Given the description of an element on the screen output the (x, y) to click on. 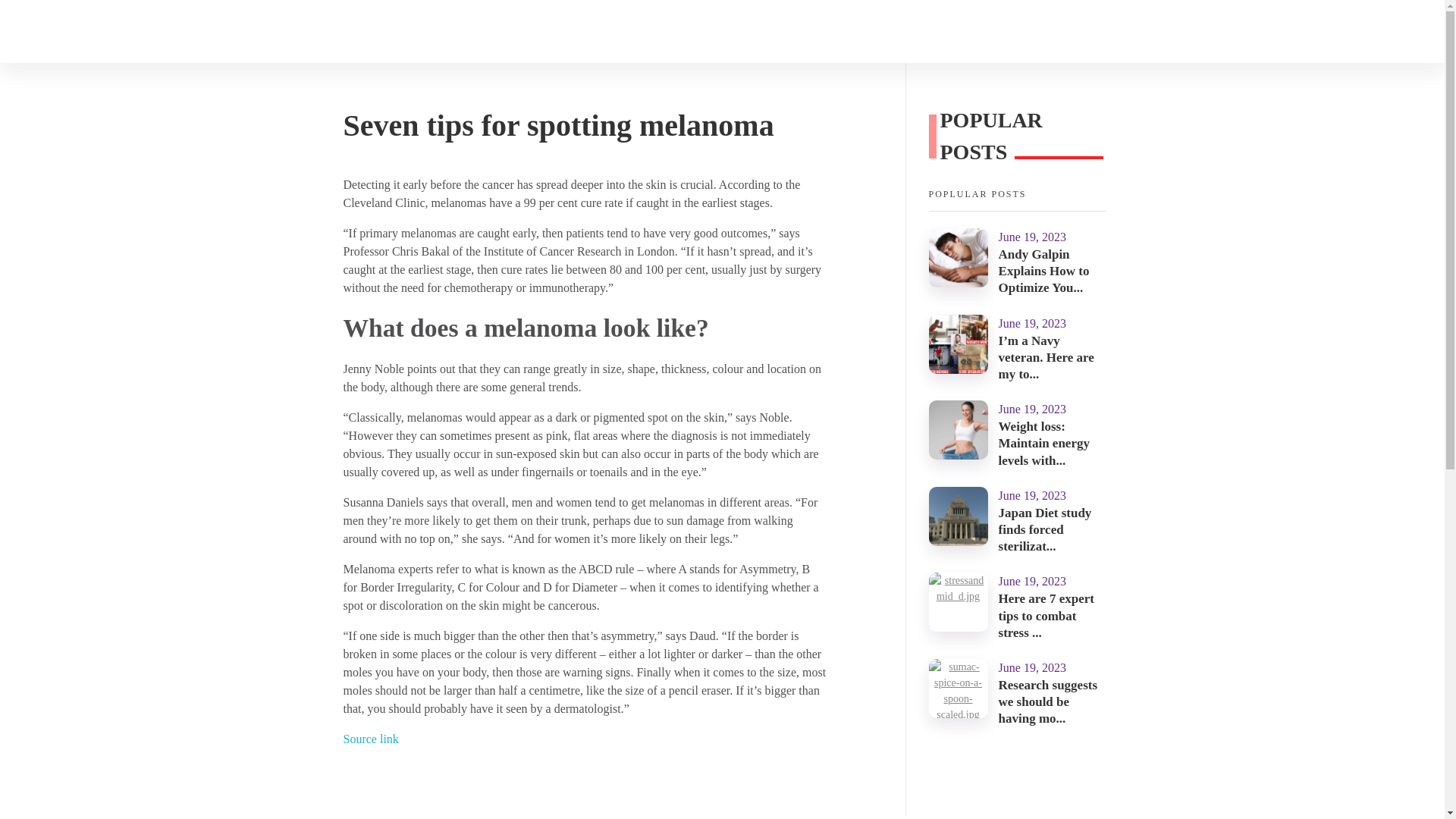
Source link (369, 738)
Andy Galpin Explains How to Optimize You... (1043, 270)
Weight loss: Maintain energy levels with... (1043, 442)
Research suggests we should be having mo... (1047, 701)
Here are 7 expert tips to combat stress ... (1046, 615)
Japan Diet study finds forced sterilizat... (1045, 529)
